Given the description of an element on the screen output the (x, y) to click on. 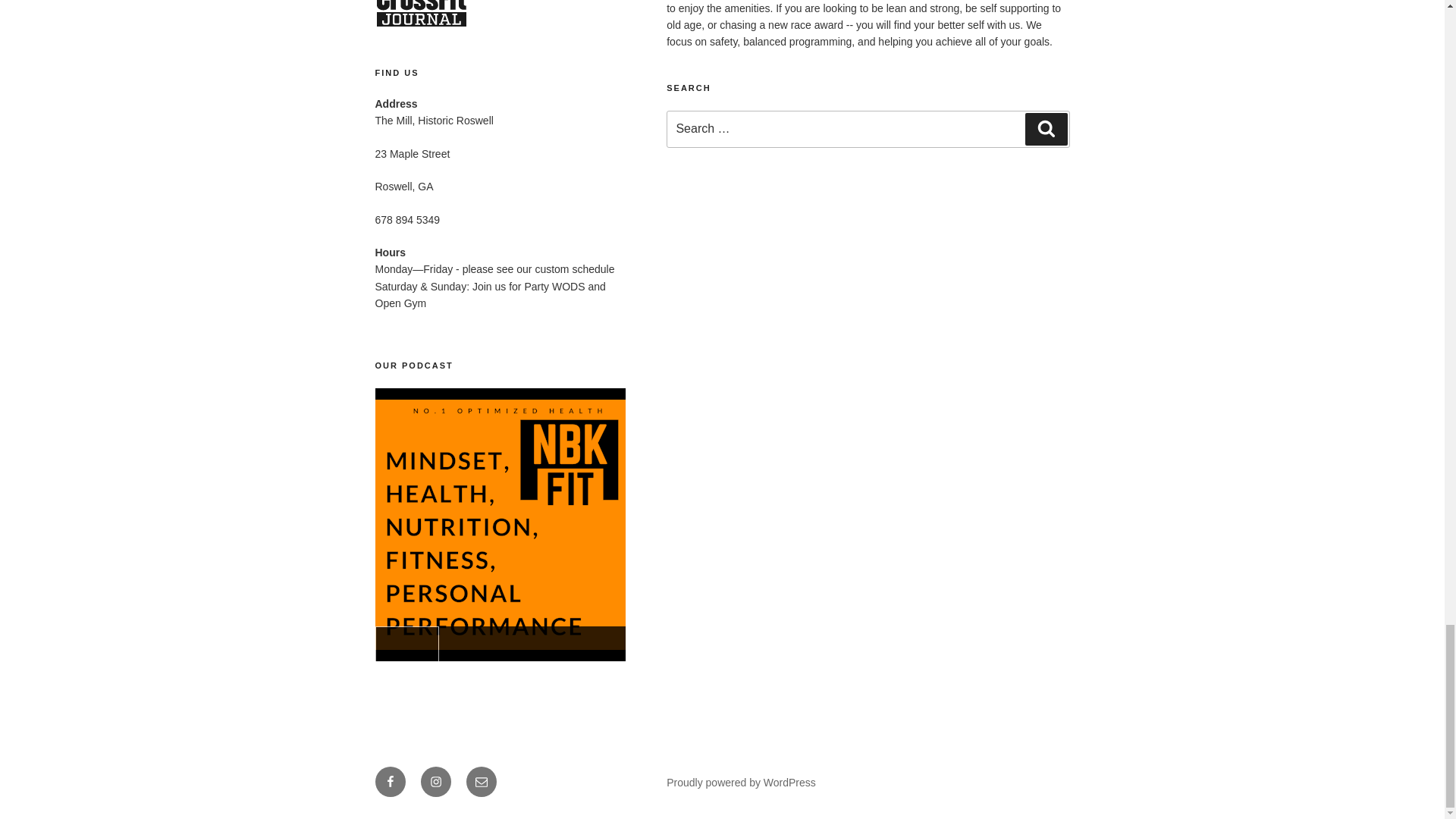
Instagram (435, 781)
Facebook (389, 781)
Proudly powered by WordPress (740, 782)
Search (1046, 128)
CrossFit Journal: The Performance-Based Lifestyle Resource (421, 26)
Email (480, 781)
